Given the description of an element on the screen output the (x, y) to click on. 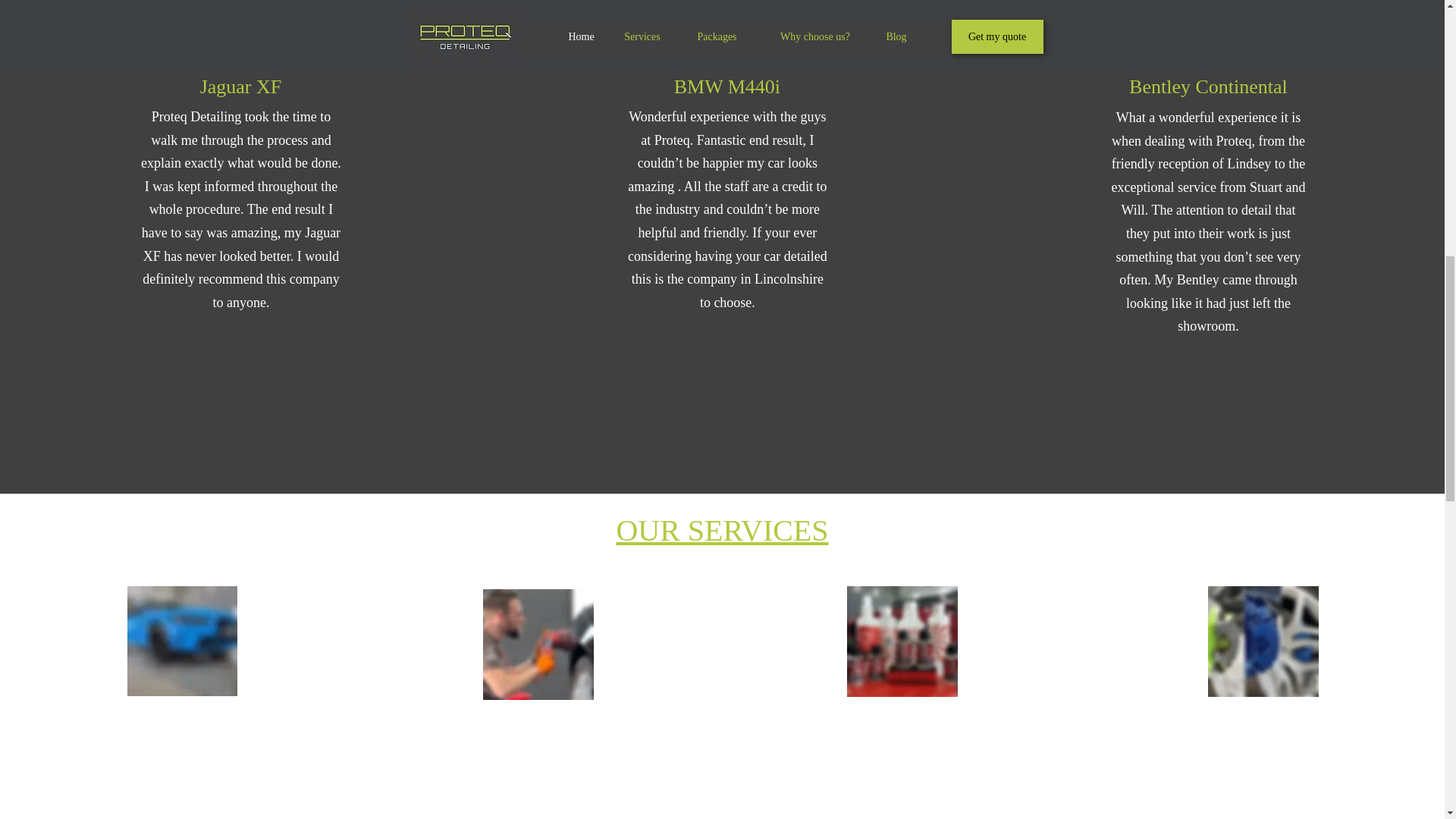
OUR SERVICES (721, 530)
